Given the description of an element on the screen output the (x, y) to click on. 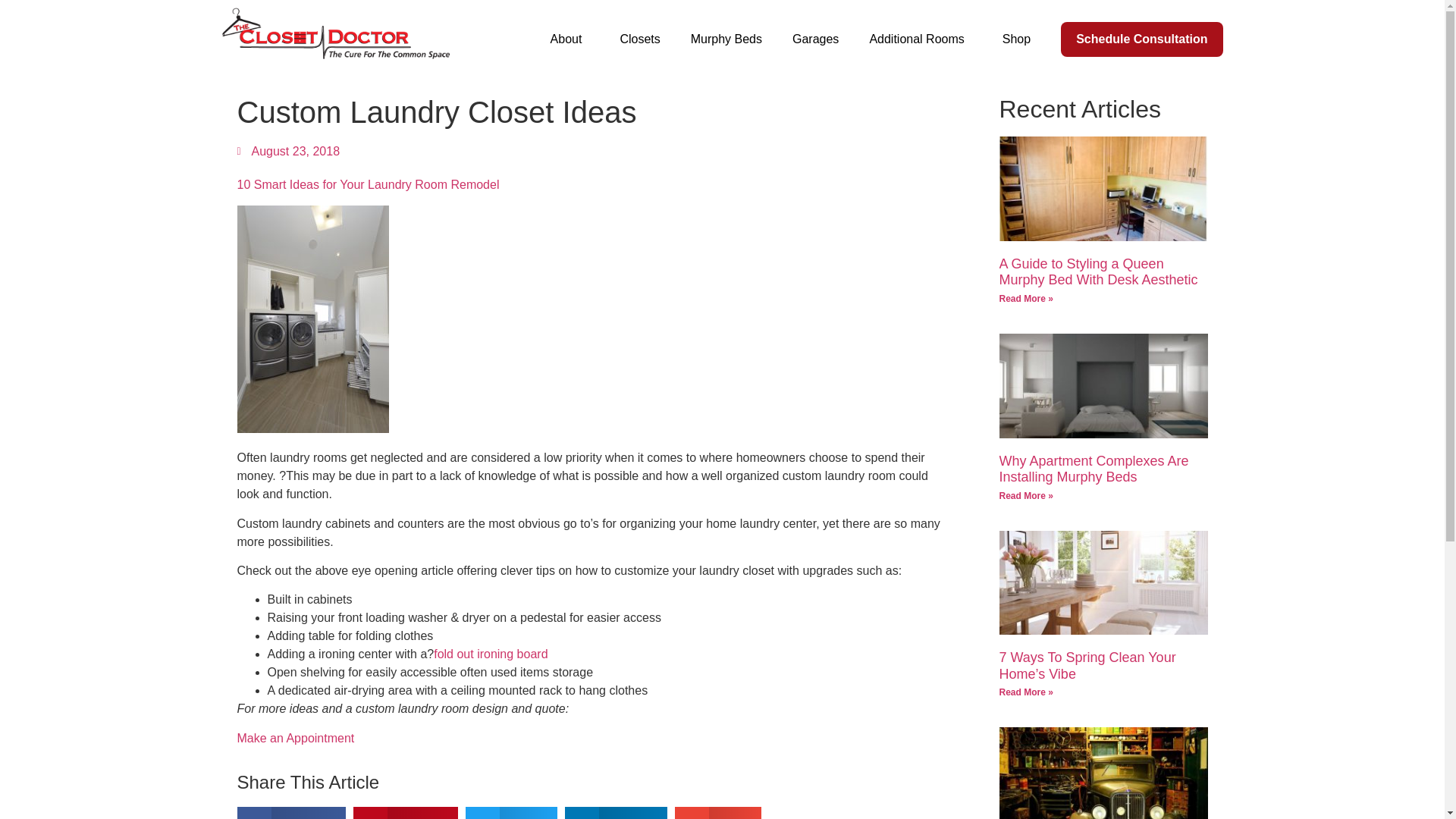
August 23, 2018 (287, 151)
Schedule Consultation (1142, 39)
About (570, 39)
Closets (639, 39)
Why Apartment Complexes Are Installing Murphy Beds (1093, 469)
Additional Rooms (920, 39)
10 Smart Ideas for Your Laundry Room Remodel (367, 184)
A Guide to Styling a Queen Murphy Bed With Desk Aesthetic (1098, 272)
Murphy Beds (726, 39)
Garages (815, 39)
fold out ironing board (490, 653)
Make an Appointment (294, 738)
Make an Appointment (294, 738)
Shop (1016, 39)
